Given the description of an element on the screen output the (x, y) to click on. 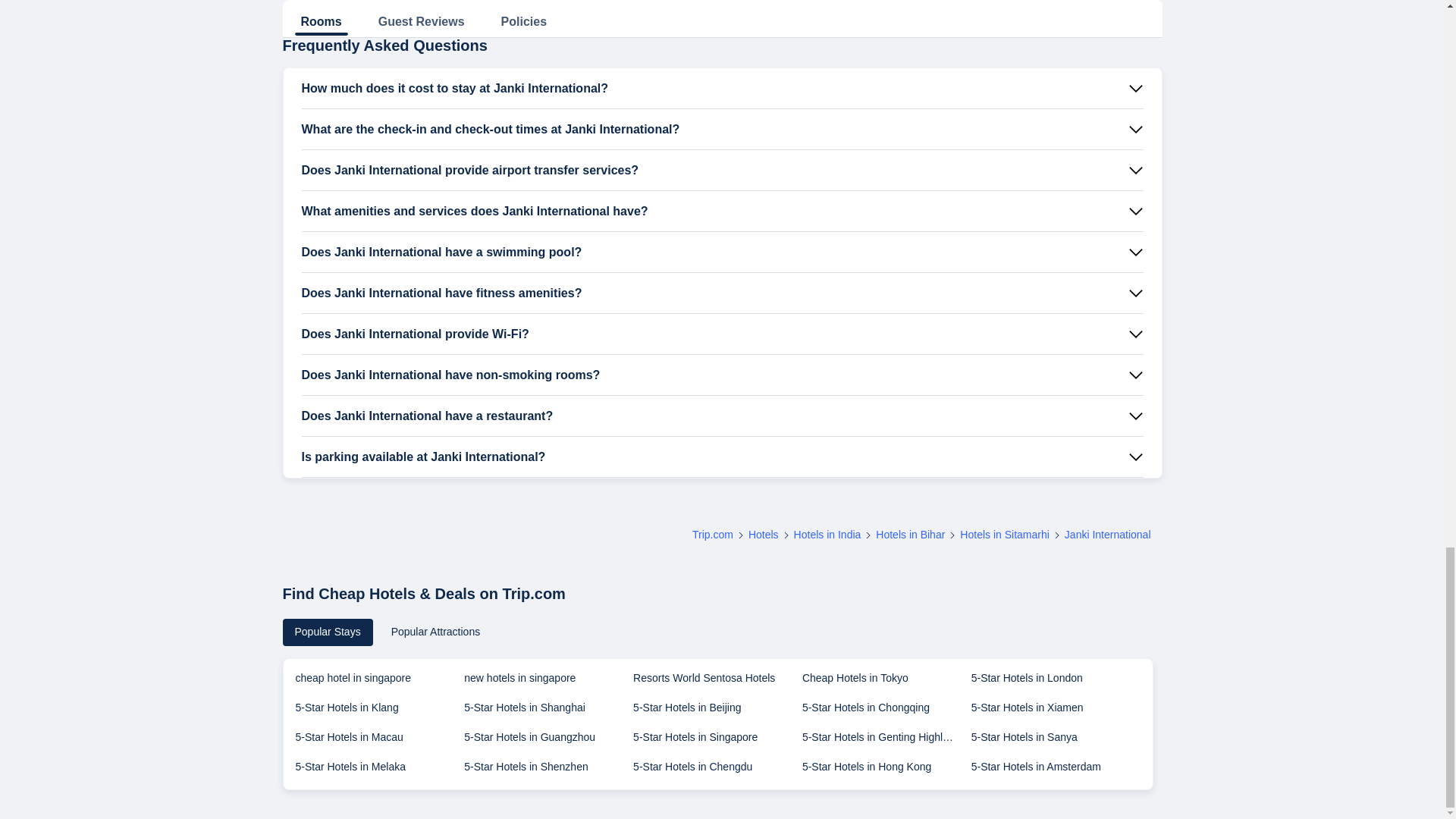
5-Star Hotels in Hong Kong (886, 772)
Hotels in India (827, 534)
5-Star Hotels in Singapore (717, 742)
5-Star Hotels in Klang (379, 713)
5-Star Hotels in Guangzhou (548, 742)
5-Star Hotels in Macau (379, 742)
Cheap Hotels in Tokyo (886, 683)
Trip.com (713, 534)
5-Star Hotels in Chengdu (717, 772)
Resorts World Sentosa Hotels (717, 683)
